Given the description of an element on the screen output the (x, y) to click on. 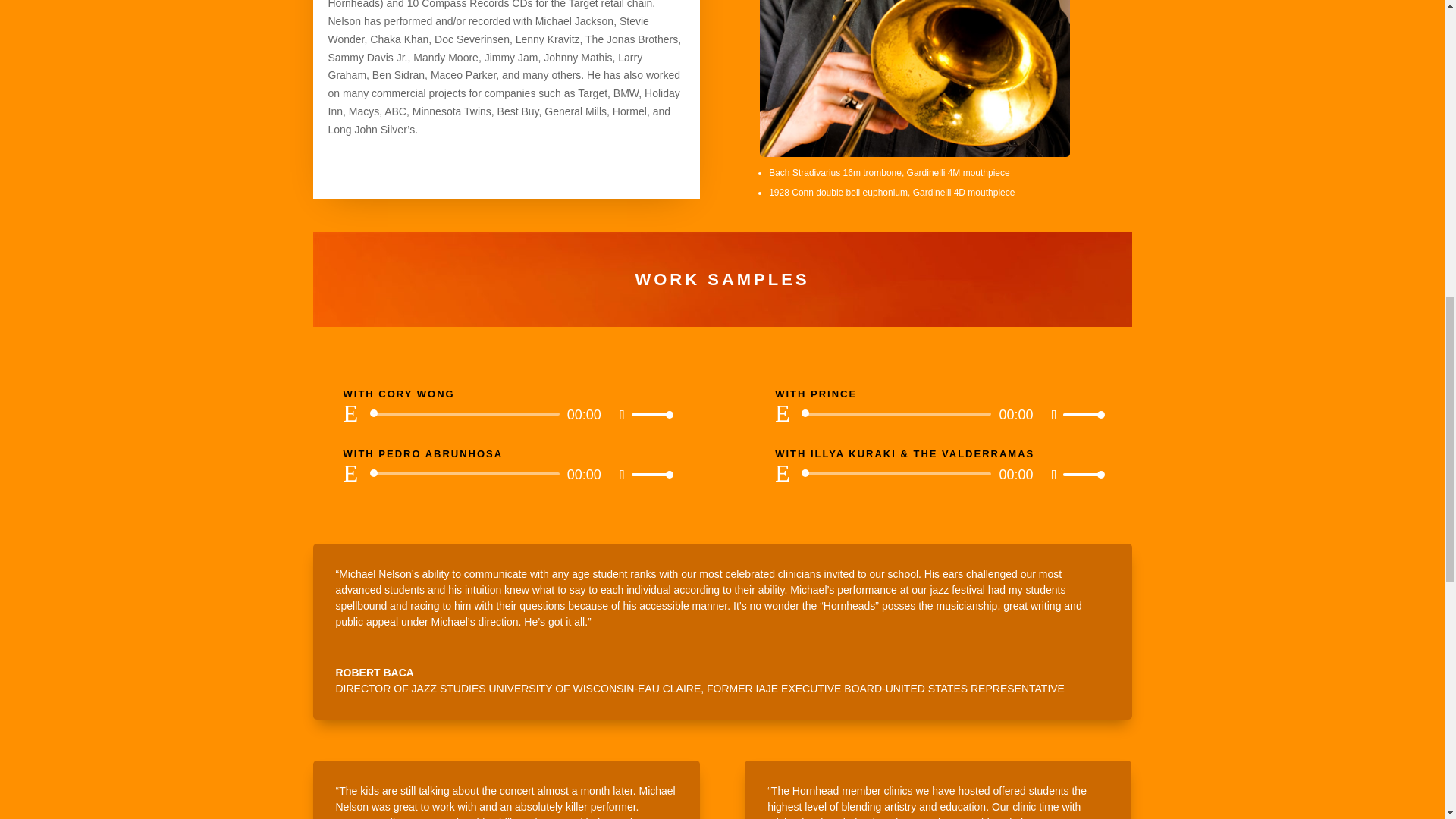
Michael-Nelson (915, 78)
